Given the description of an element on the screen output the (x, y) to click on. 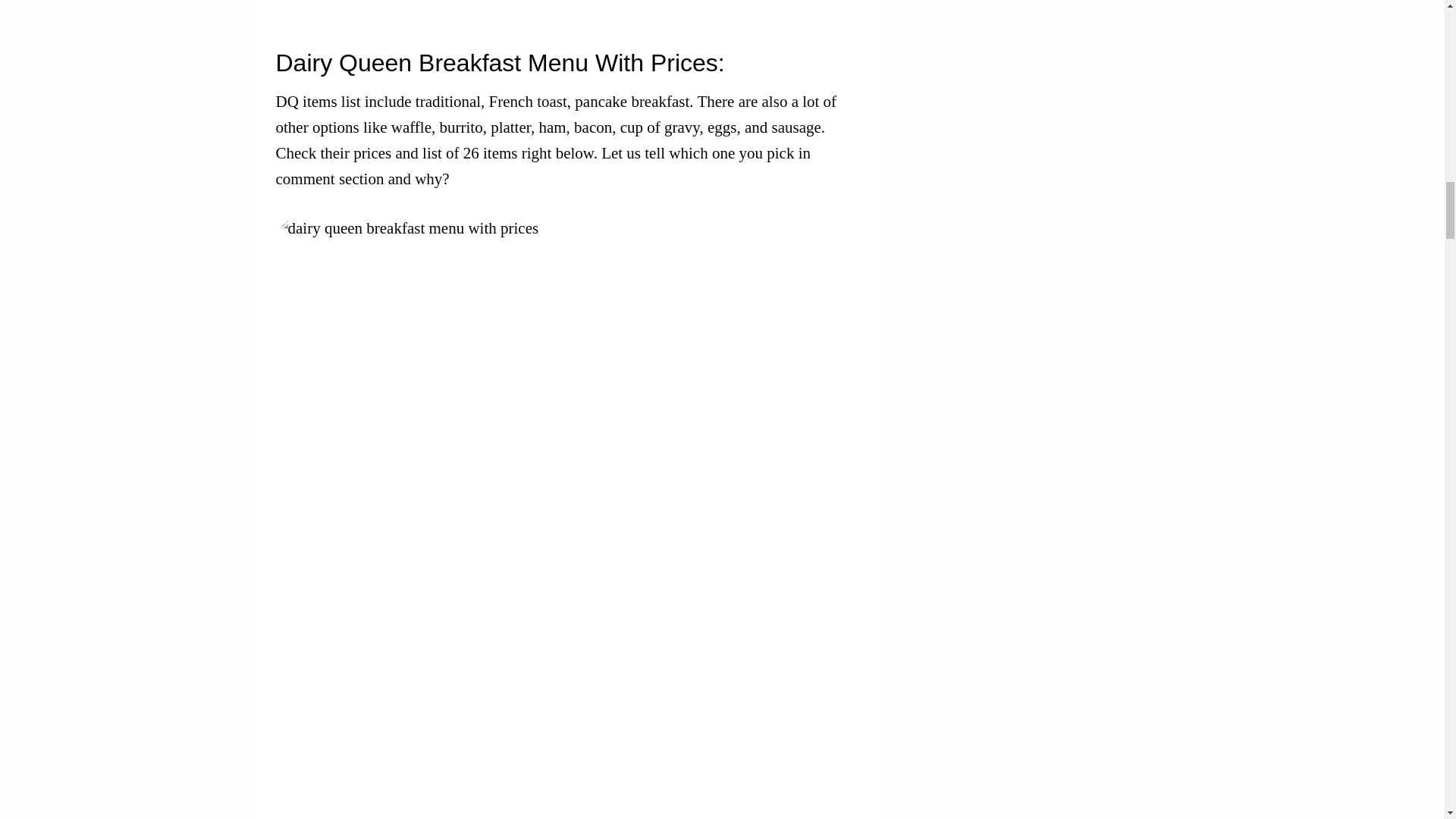
My First Time Trying DAIRY QUEENS FOOD MENU! (568, 5)
